Given the description of an element on the screen output the (x, y) to click on. 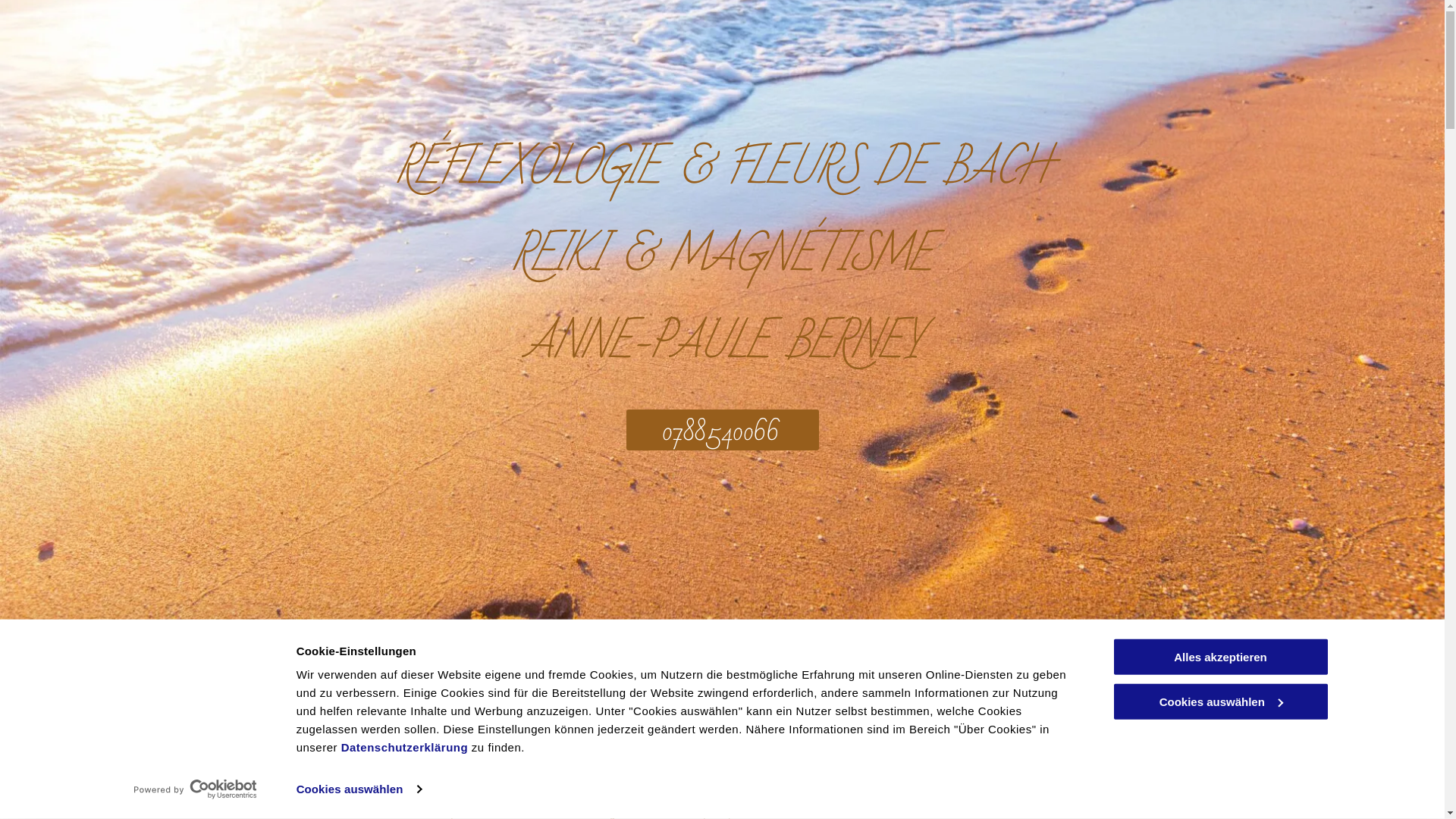
Alles akzeptieren Element type: text (1219, 656)
0788540066 Element type: text (722, 429)
